Given the description of an element on the screen output the (x, y) to click on. 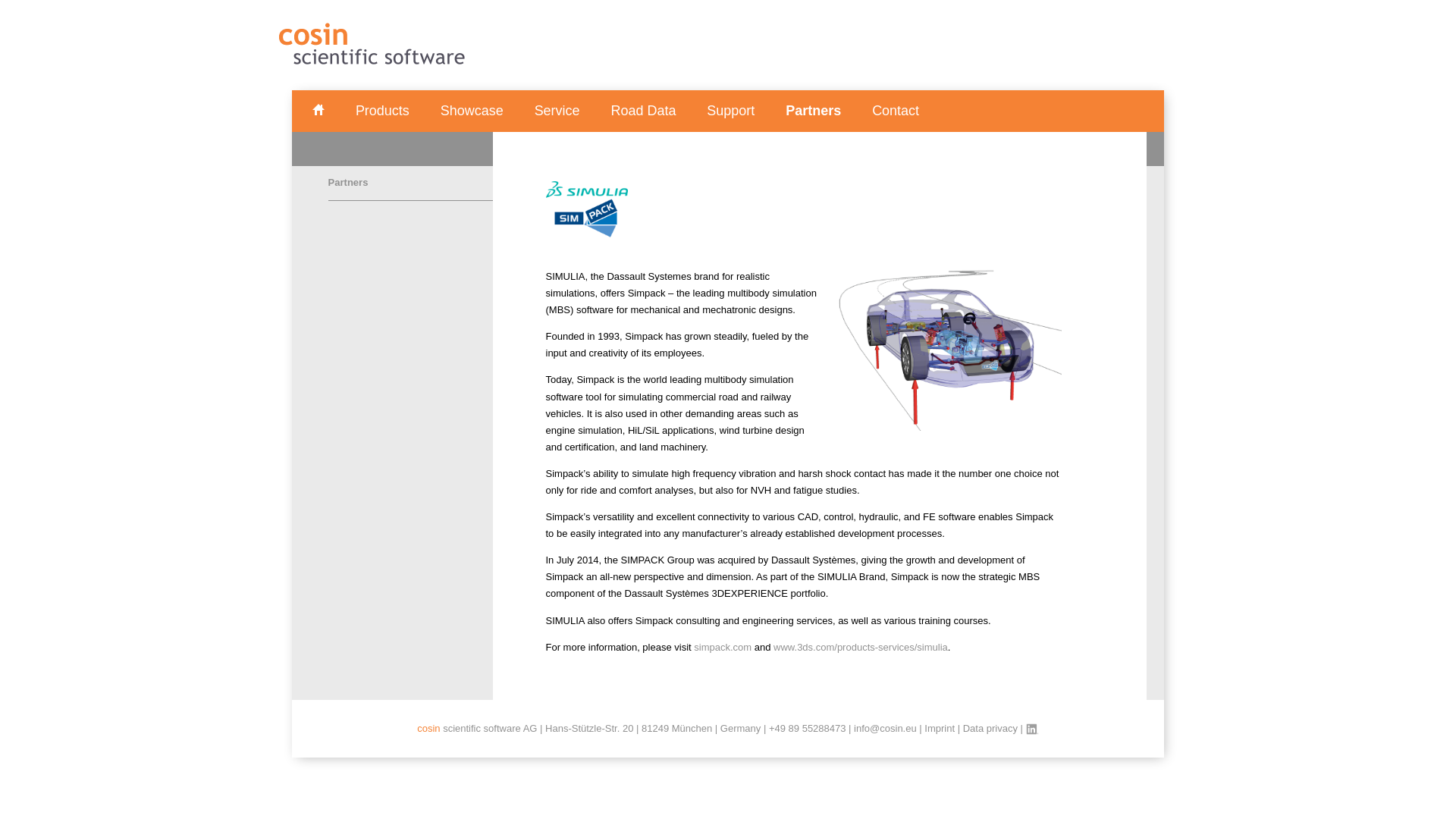
Service (556, 110)
Partners (411, 183)
Contact (895, 110)
Data privacy (989, 727)
Support (730, 110)
Road Data (642, 110)
Imprint (939, 727)
Products (382, 110)
simpack.com (722, 646)
Showcase (472, 110)
Partners (813, 110)
